Given the description of an element on the screen output the (x, y) to click on. 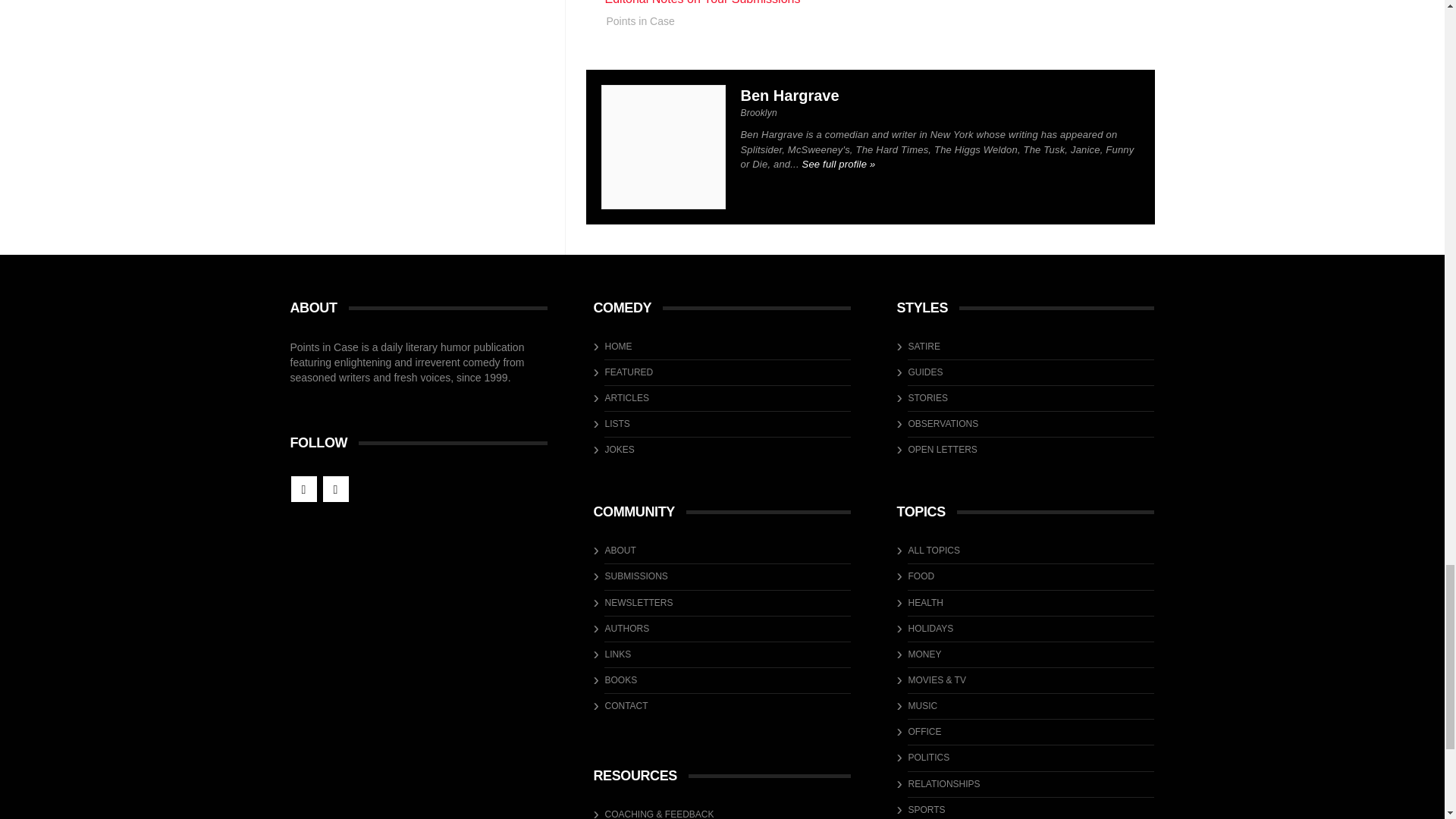
Editorial Notes on Your Submissions (702, 2)
Ben Hargrave (788, 95)
Posts by Ben Hargrave (788, 95)
